Given the description of an element on the screen output the (x, y) to click on. 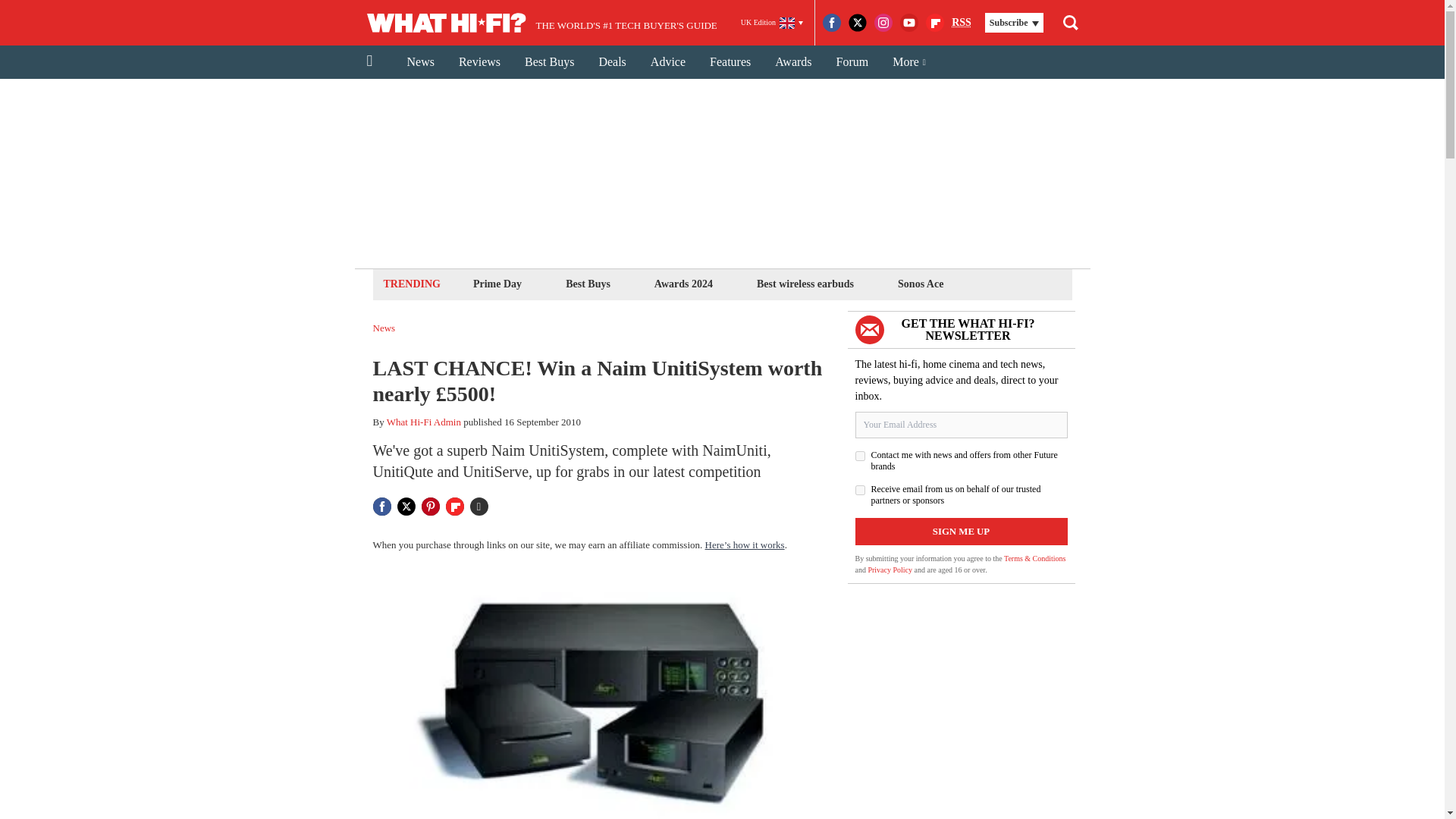
Advice (668, 61)
What Hi-Fi Admin (424, 421)
Sign me up (961, 531)
Prime Day (497, 283)
Reviews (479, 61)
Best wireless earbuds (805, 283)
Deals (611, 61)
Best Buys (587, 283)
RSS (961, 22)
UK Edition (771, 22)
Awards 2024 (683, 283)
Forum (852, 61)
Awards (793, 61)
Sonos Ace (920, 283)
Really Simple Syndication (961, 21)
